Given the description of an element on the screen output the (x, y) to click on. 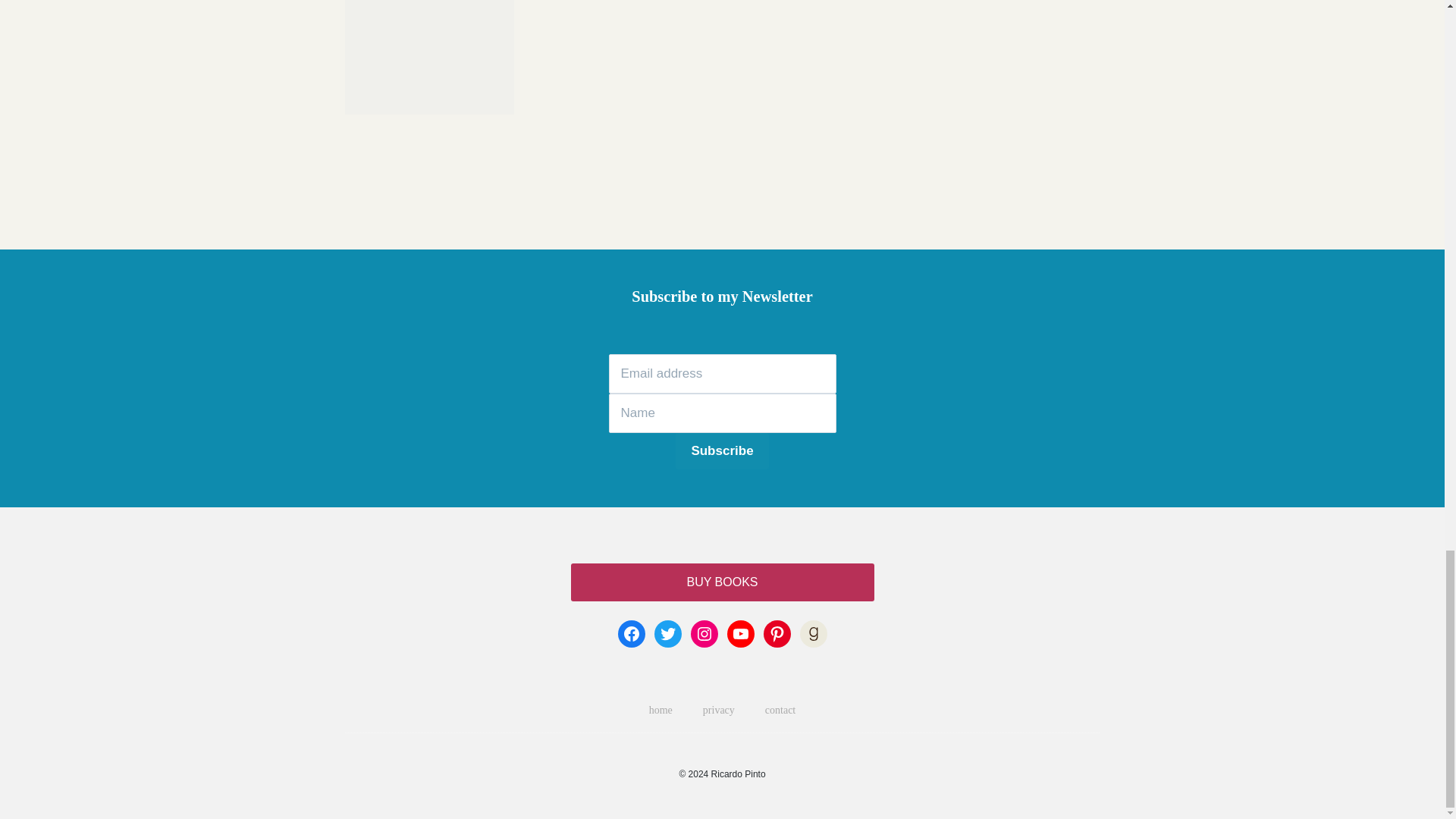
Instagram (703, 633)
contact (779, 709)
Goodreads (813, 633)
privacy (718, 709)
Subscribe (721, 451)
Pinterest (776, 633)
home (660, 709)
Facebook (631, 633)
YouTube (740, 633)
Twitter (667, 633)
Subscribe (721, 451)
BUY BOOKS (721, 581)
